Given the description of an element on the screen output the (x, y) to click on. 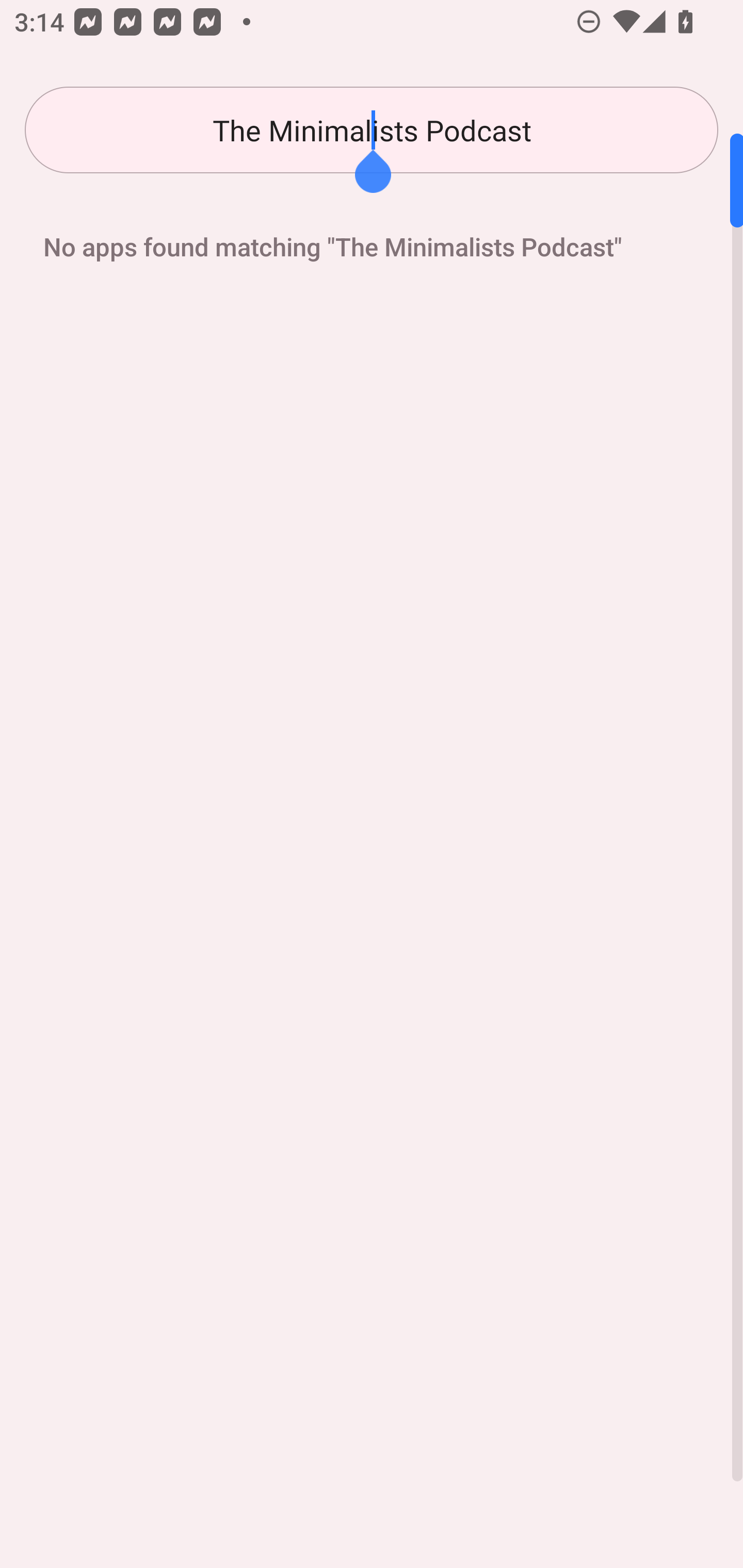
The Minimalists Podcast (371, 130)
